Given the description of an element on the screen output the (x, y) to click on. 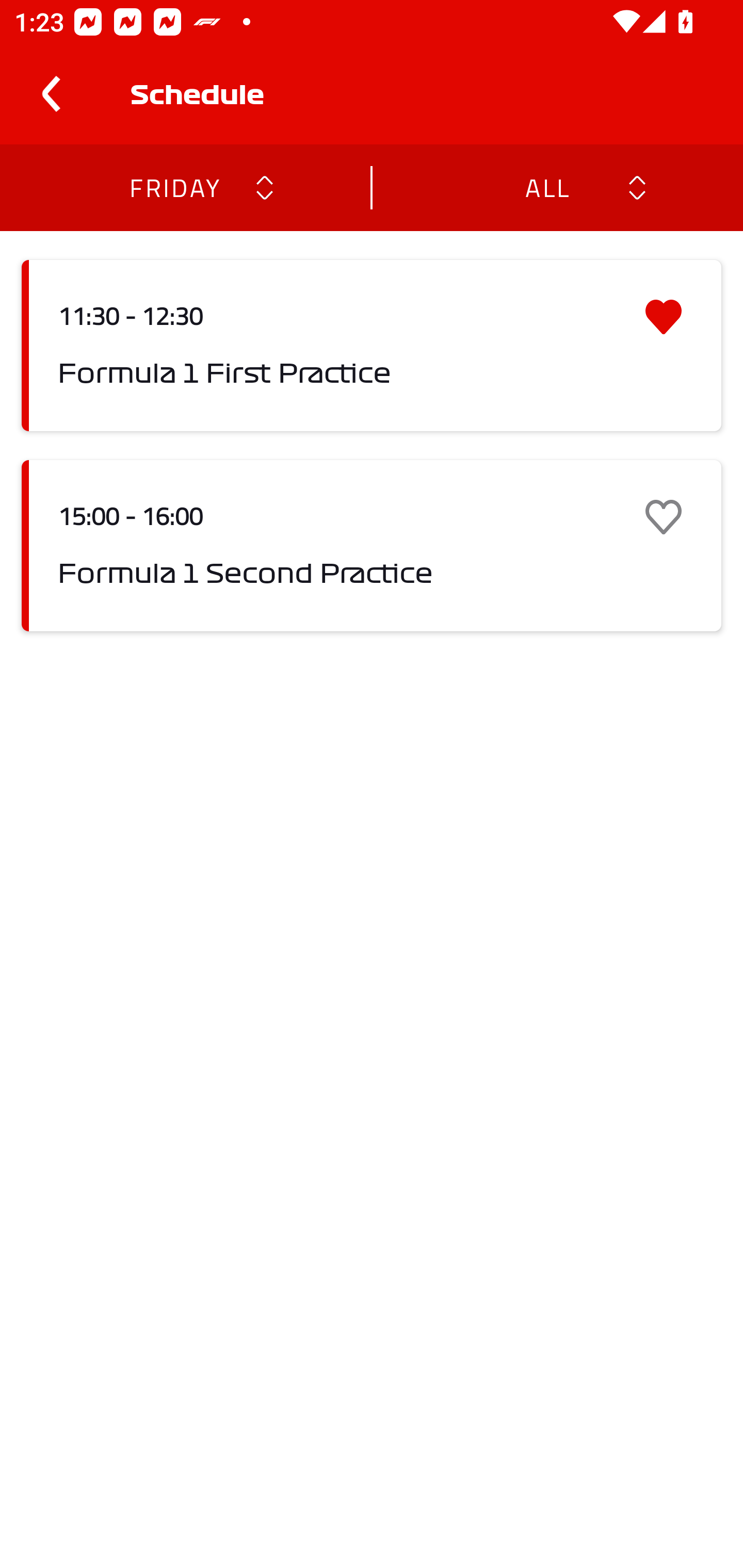
Navigate up (50, 93)
FRIDAY (174, 187)
ALL (546, 187)
11:30 - 12:30 Formula 1 First Practice (371, 345)
15:00 - 16:00 Formula 1 Second Practice (371, 545)
